Given the description of an element on the screen output the (x, y) to click on. 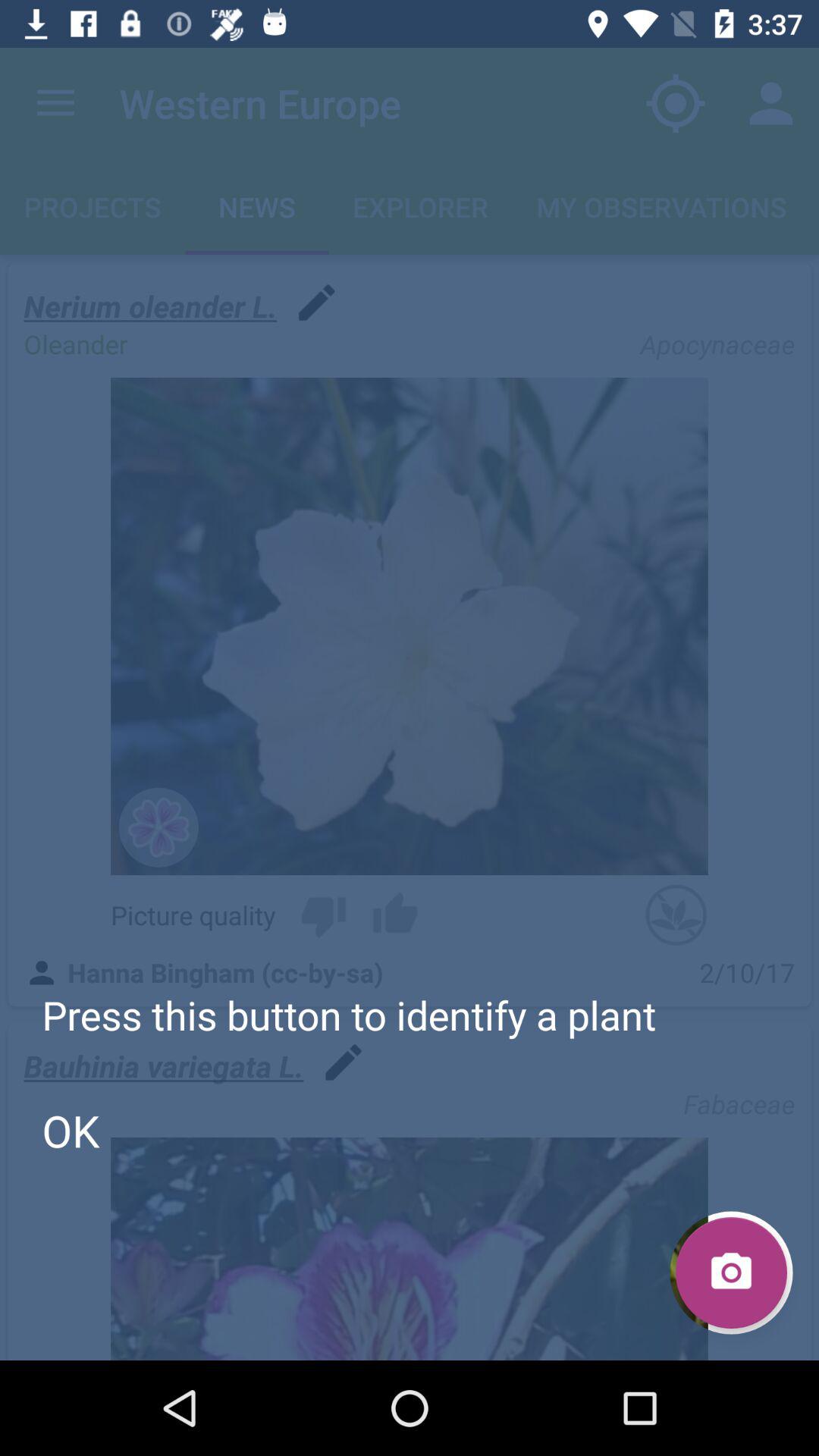
turn off the item next to the western europe app (55, 103)
